Given the description of an element on the screen output the (x, y) to click on. 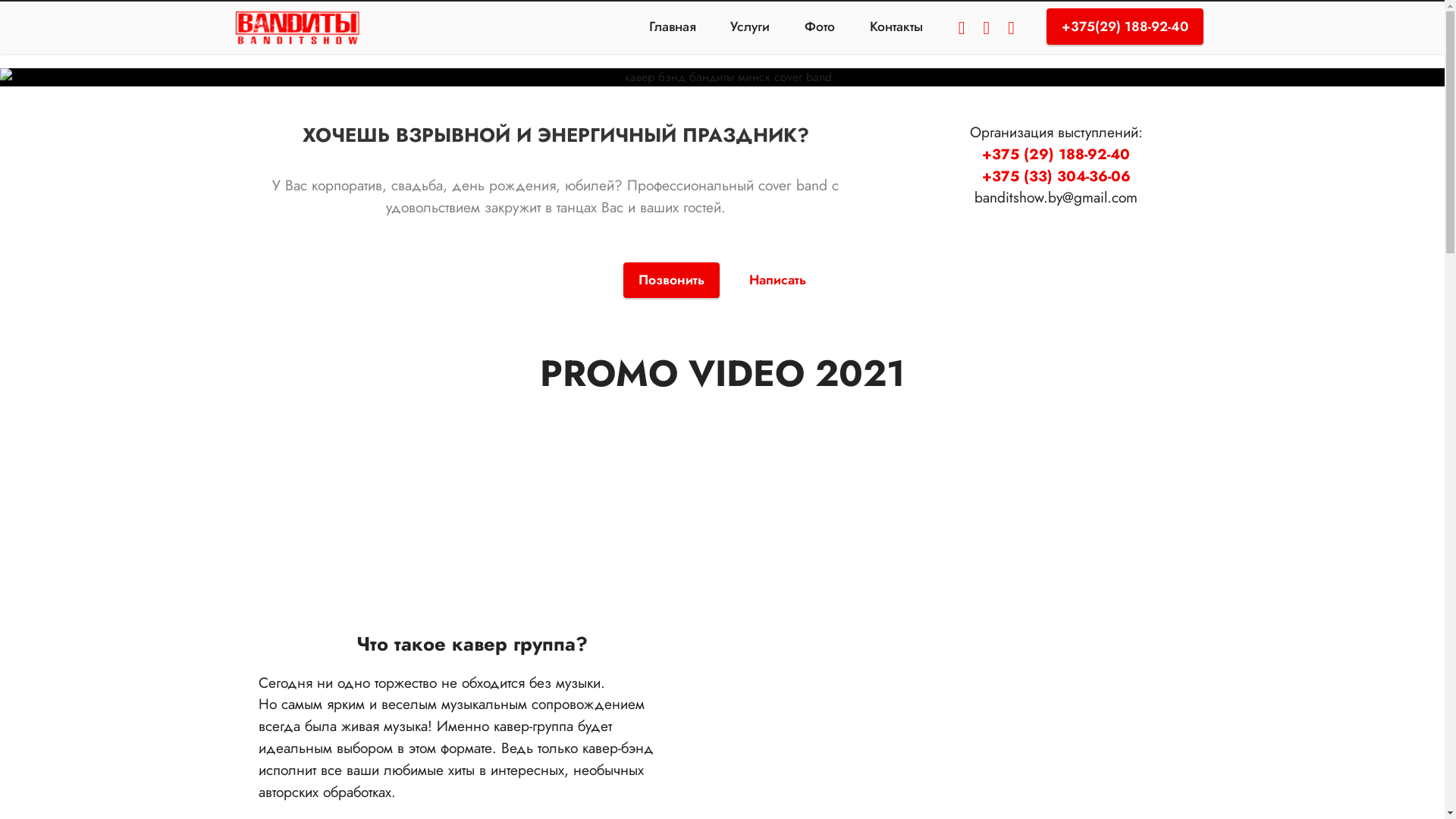
+375(29) 188-92-40 Element type: text (1124, 26)
banditshow.by@gmail.com Element type: text (1055, 196)
